Given the description of an element on the screen output the (x, y) to click on. 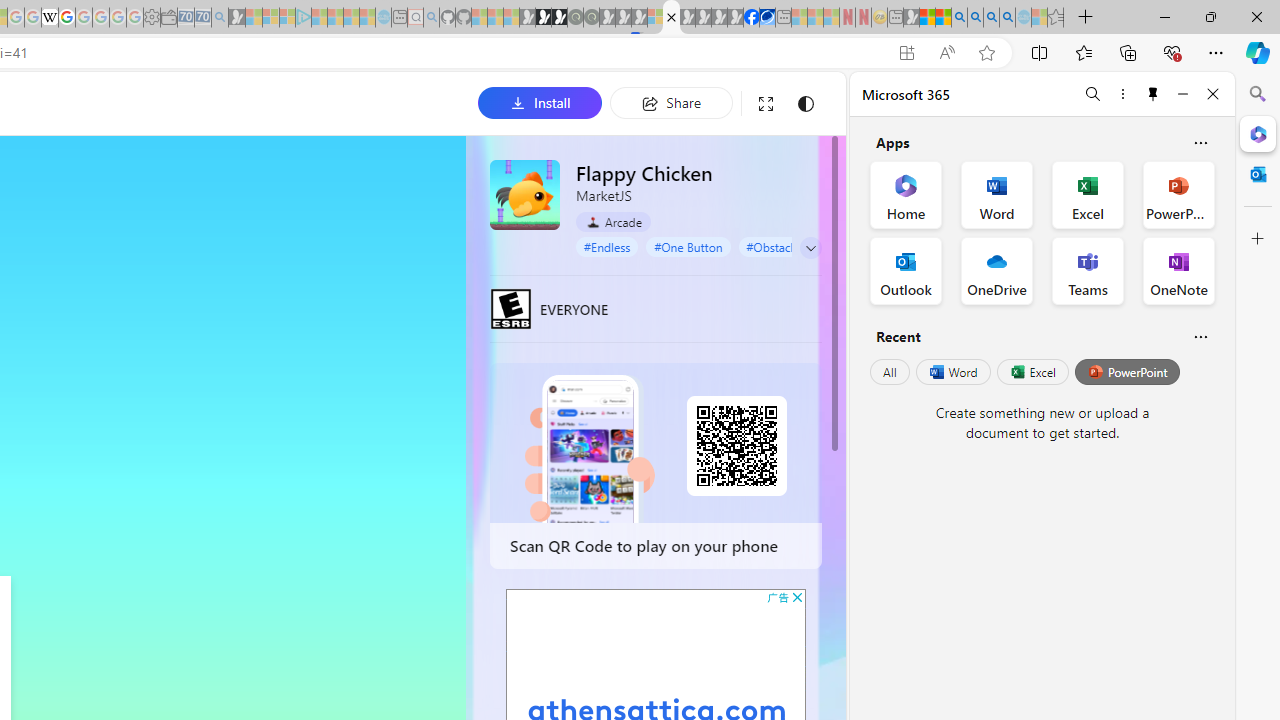
Install (540, 102)
Settings - Sleeping (151, 17)
Excel (1031, 372)
AirNow.gov (767, 17)
Future Focus Report 2024 - Sleeping (591, 17)
Change to dark mode (805, 103)
Flappy Chicken (525, 194)
